Given the description of an element on the screen output the (x, y) to click on. 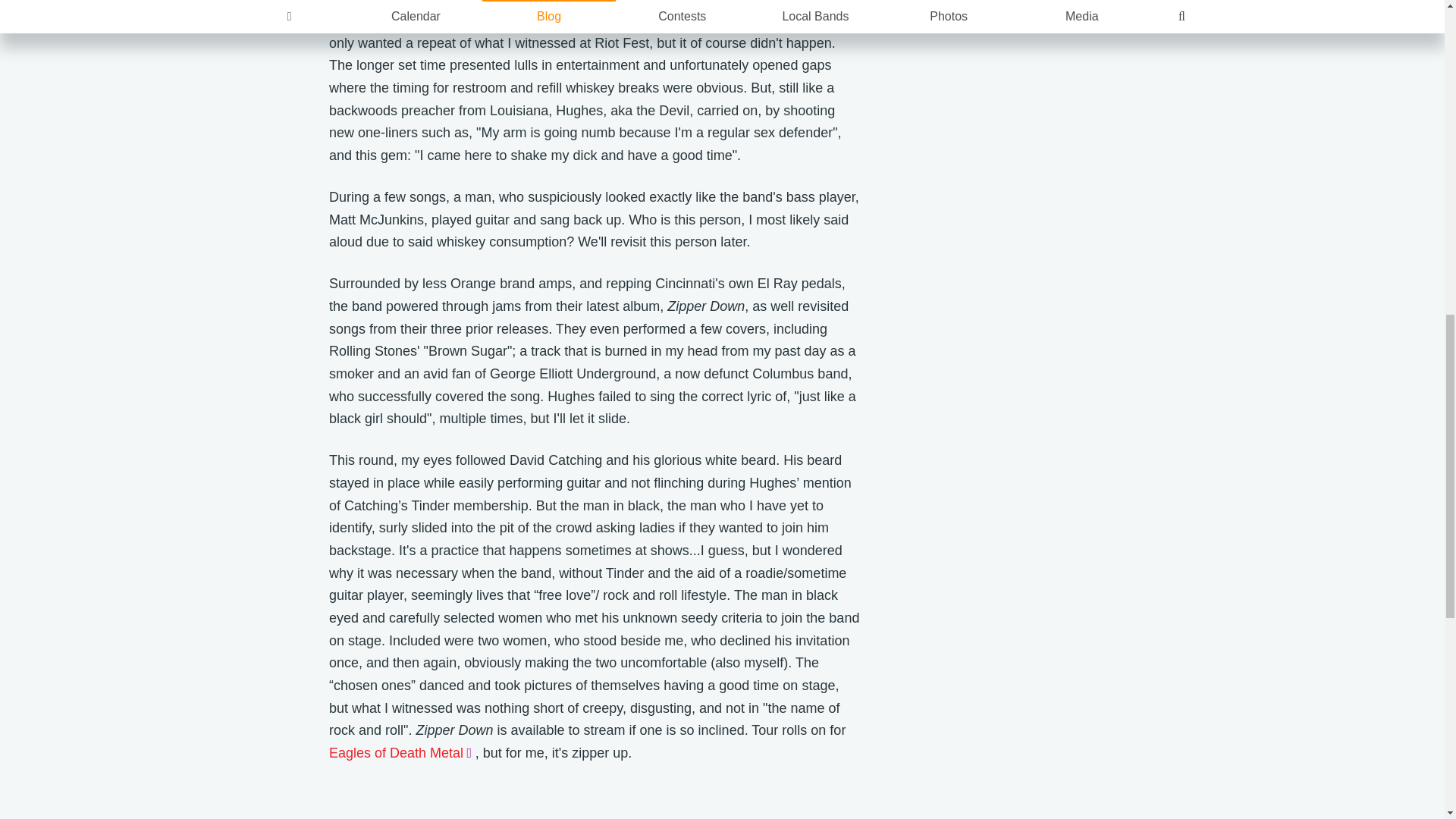
Eagles of Death Metal (402, 752)
